Given the description of an element on the screen output the (x, y) to click on. 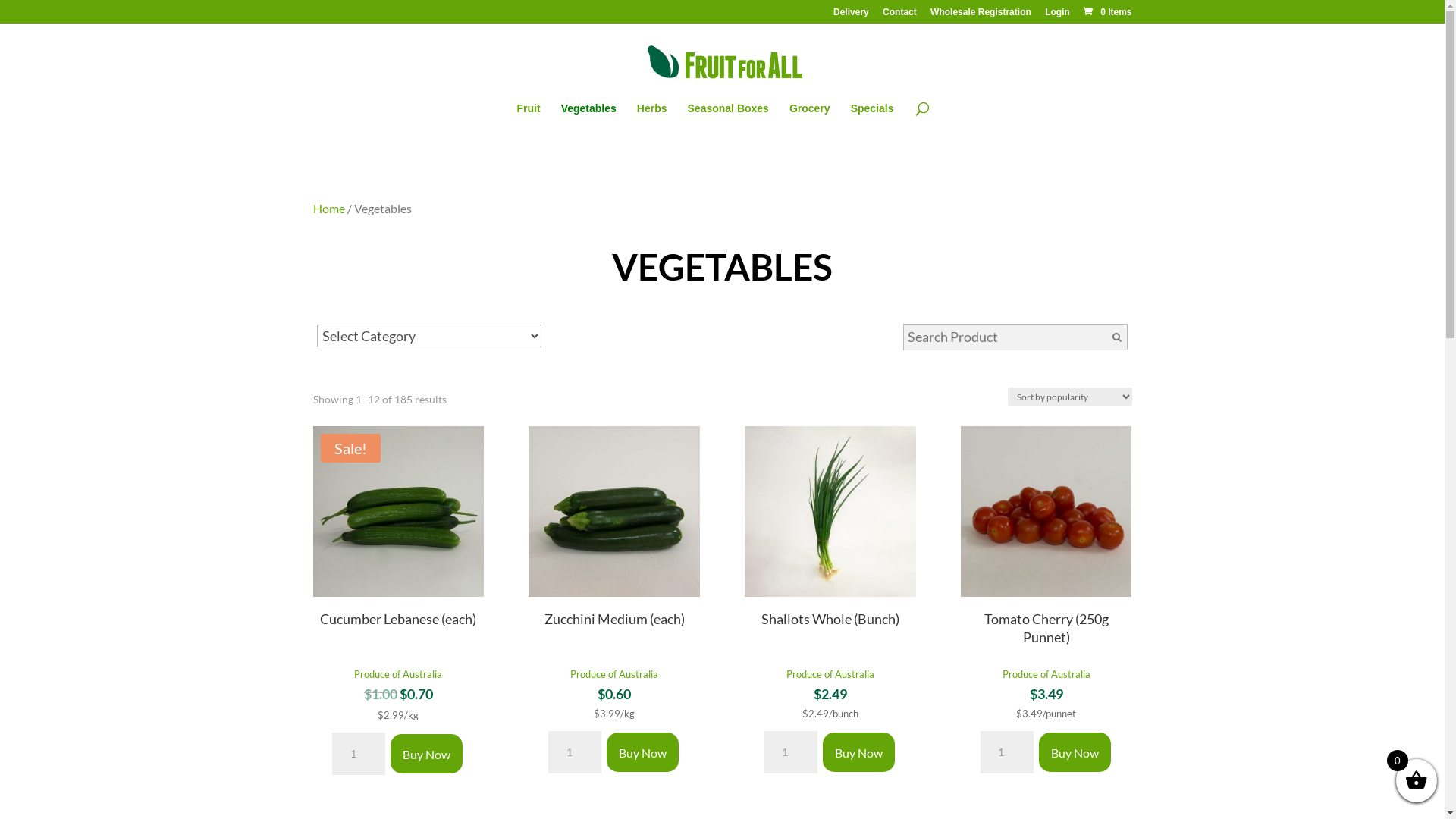
Delivery Element type: text (851, 15)
Buy Now Element type: text (642, 752)
Buy Now Element type: text (1074, 752)
Buy Now Element type: text (426, 753)
Shallots Whole (Bunch)
Produce of Australia
$2.49 Element type: text (829, 564)
Login Element type: text (1057, 15)
Home Element type: text (328, 207)
Grocery Element type: text (809, 118)
Seasonal Boxes Element type: text (727, 118)
Tomato Cherry (250g Punnet)
Produce of Australia
$3.49 Element type: text (1045, 564)
0 Items Element type: text (1106, 11)
Specials Element type: text (872, 118)
Vegetables Element type: text (588, 118)
Zucchini Medium (each)
Produce of Australia
$0.60 Element type: text (613, 564)
Wholesale Registration Element type: text (980, 15)
Herbs Element type: text (652, 118)
Contact Element type: text (899, 15)
Buy Now Element type: text (858, 752)
Fruit Element type: text (528, 118)
